Given the description of an element on the screen output the (x, y) to click on. 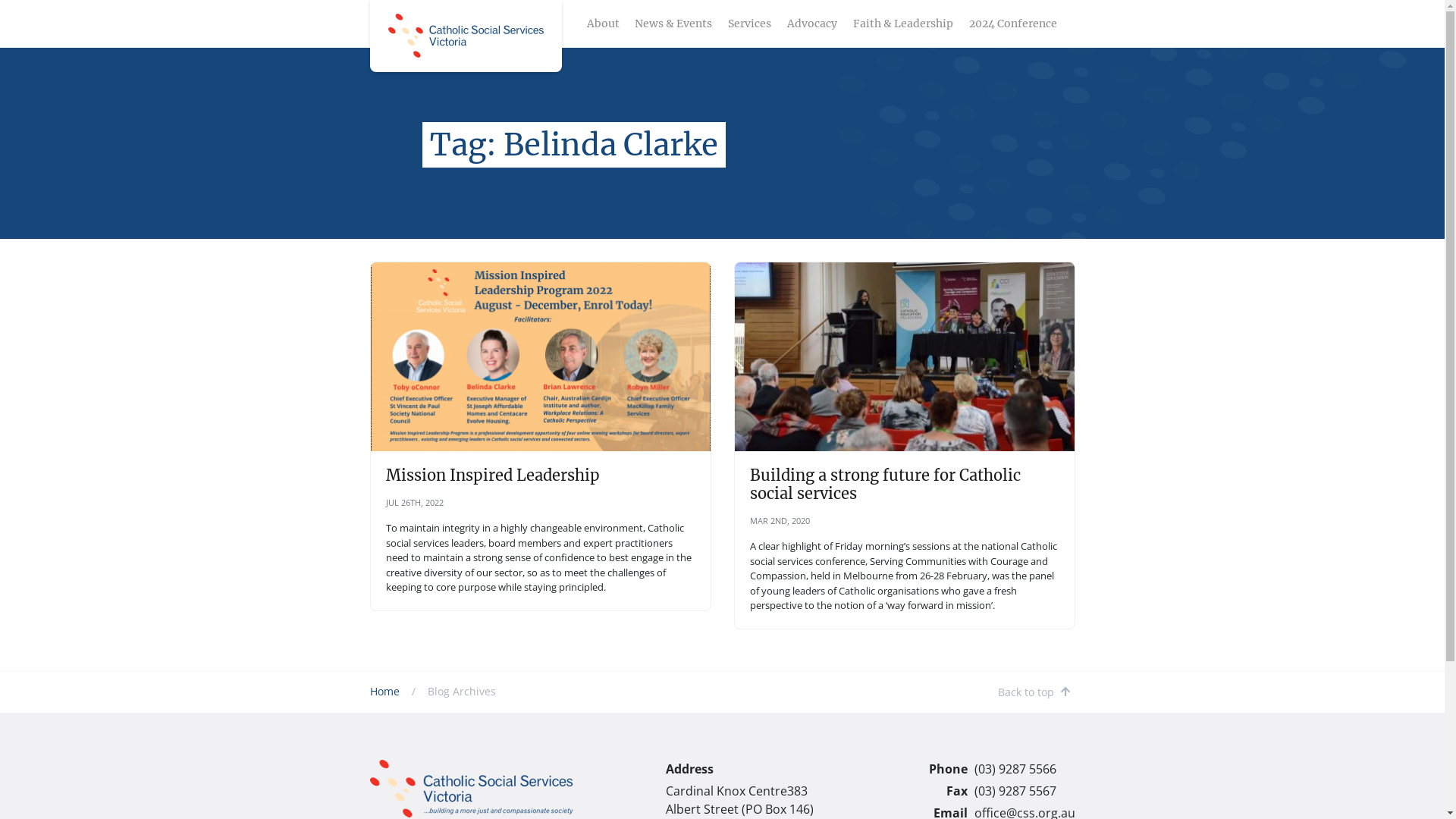
Mission Inspired Leadership Element type: text (492, 474)
Skip to content Element type: text (1443, 0)
Building a strong future for Catholic social services Element type: text (884, 483)
(03) 9287 5566 Element type: text (1014, 768)
2024 Conference Element type: text (1013, 23)
About Element type: text (602, 23)
Home Element type: text (384, 691)
Advocacy Element type: text (812, 23)
News & Events Element type: text (673, 23)
Services Element type: text (749, 23)
Faith & Leadership Element type: text (903, 23)
Back to top   Element type: text (1034, 691)
